Given the description of an element on the screen output the (x, y) to click on. 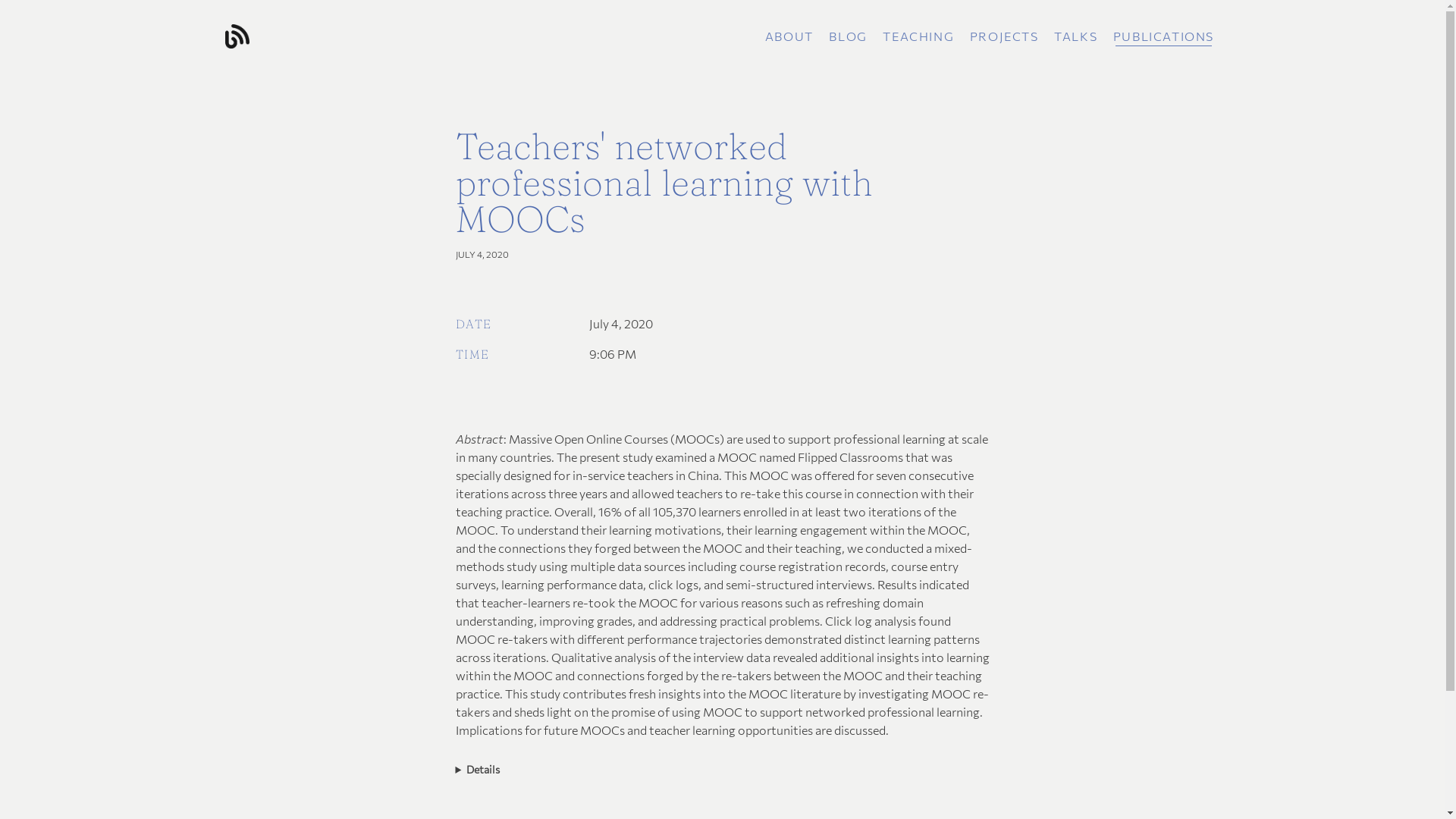
PUBLICATIONS Element type: text (1162, 36)
Home Element type: hover (388, 36)
TEACHING Element type: text (918, 36)
ABOUT Element type: text (788, 36)
BLOG Element type: text (847, 36)
PROJECTS Element type: text (1003, 36)
TALKS Element type: text (1075, 36)
